Given the description of an element on the screen output the (x, y) to click on. 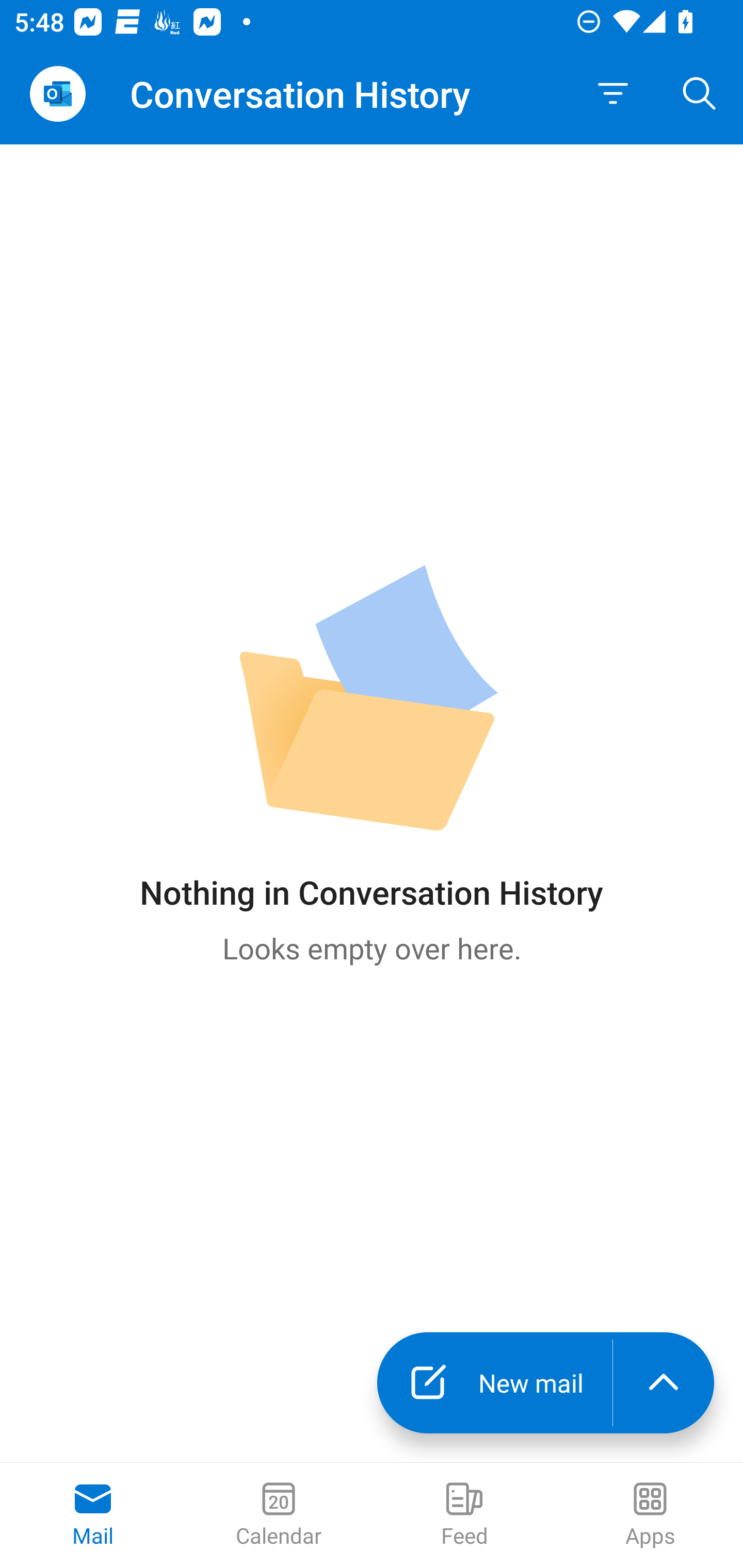
Search, ,  (699, 93)
Open Navigation Drawer (57, 94)
Filter (612, 94)
New mail (494, 1382)
launch the extended action menu (663, 1382)
Calendar (278, 1515)
Feed (464, 1515)
Apps (650, 1515)
